Given the description of an element on the screen output the (x, y) to click on. 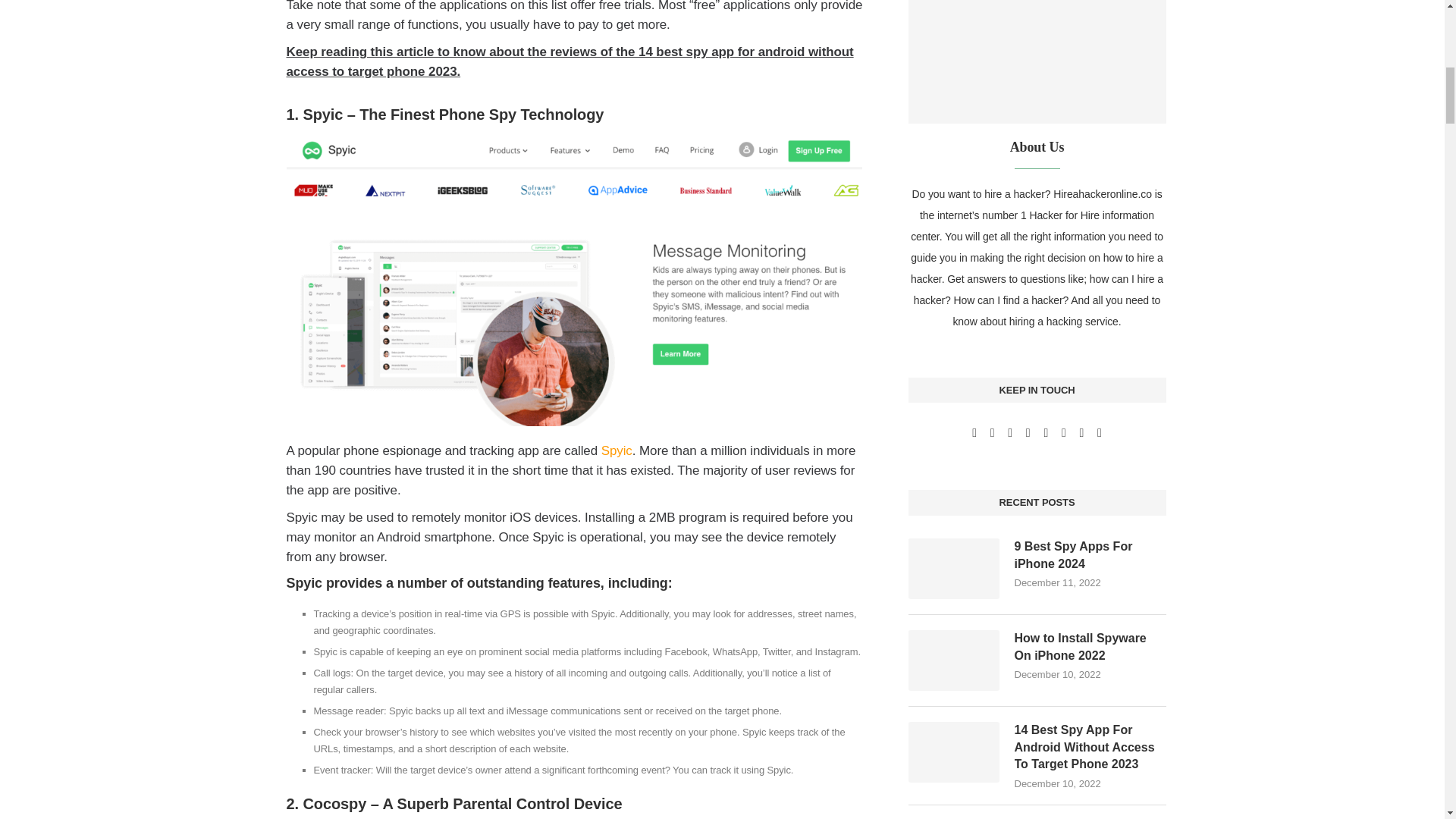
9 Best Spy Apps For iPhone 2024 (1090, 555)
Spyic (616, 450)
9 Best Spy Apps For iPhone 2024 (953, 568)
